Given the description of an element on the screen output the (x, y) to click on. 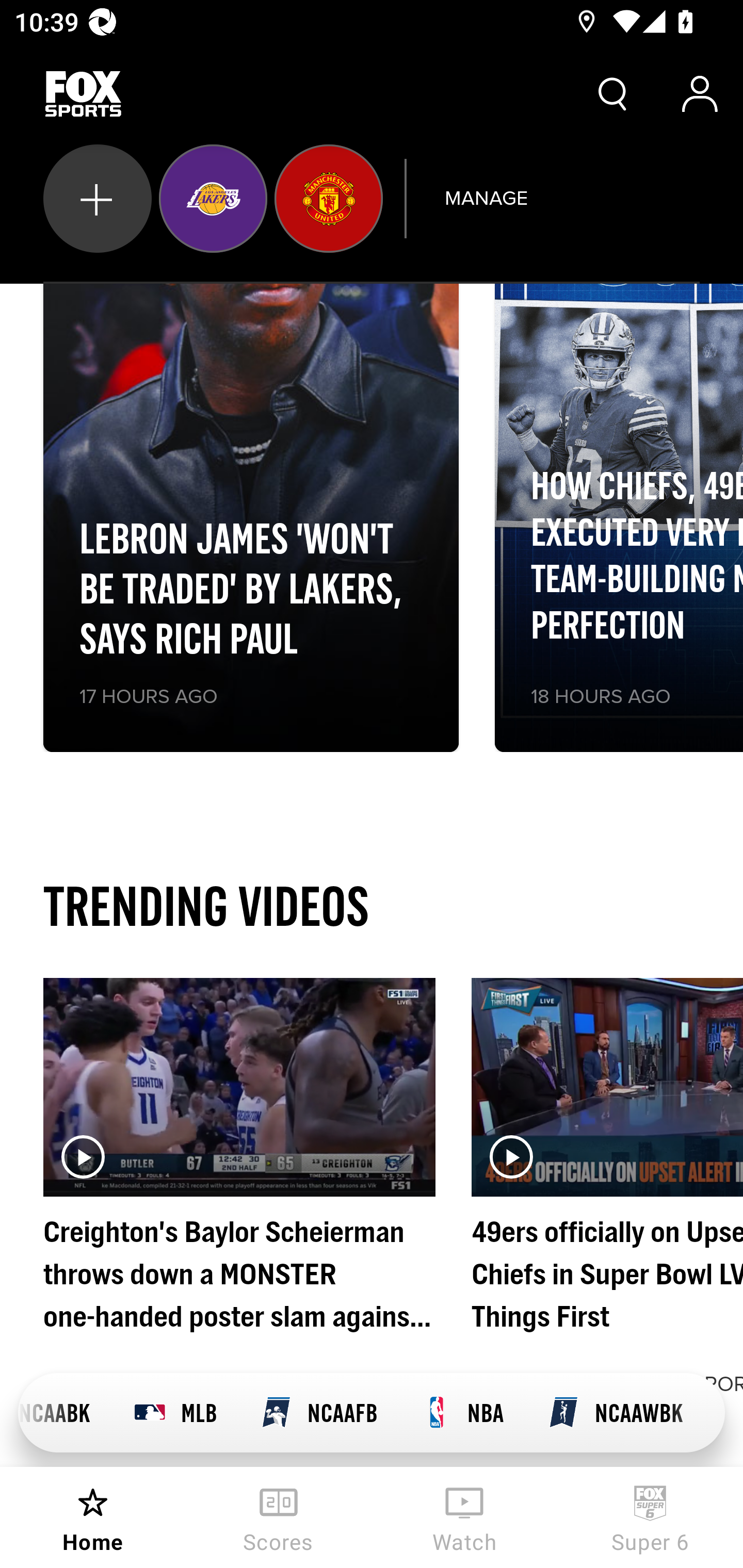
Search (612, 93)
Account (699, 93)
MANAGE (485, 198)
NCAABK (64, 1412)
MLB (175, 1412)
NCAAFB (318, 1412)
NBA (462, 1412)
NCAAWBK (615, 1412)
Scores (278, 1517)
Watch (464, 1517)
Super 6 (650, 1517)
